Given the description of an element on the screen output the (x, y) to click on. 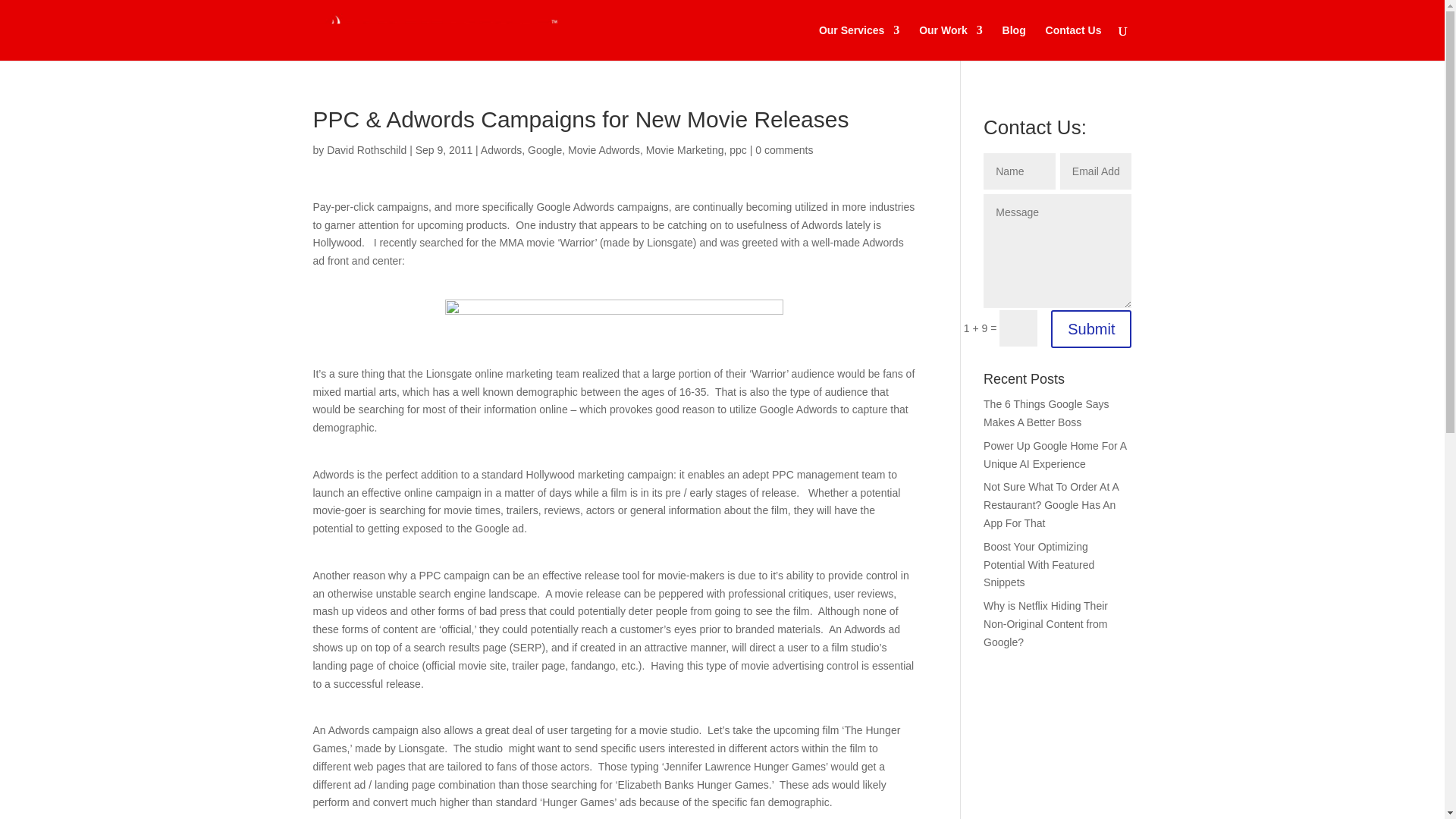
Adwords PPC Campaigns for Movies (614, 321)
Our Work (950, 42)
Posts by David Rothschild (366, 150)
Movie Adwords (603, 150)
0 comments (783, 150)
Our Services (858, 42)
ppc (737, 150)
David Rothschild (366, 150)
Adwords (500, 150)
